Given the description of an element on the screen output the (x, y) to click on. 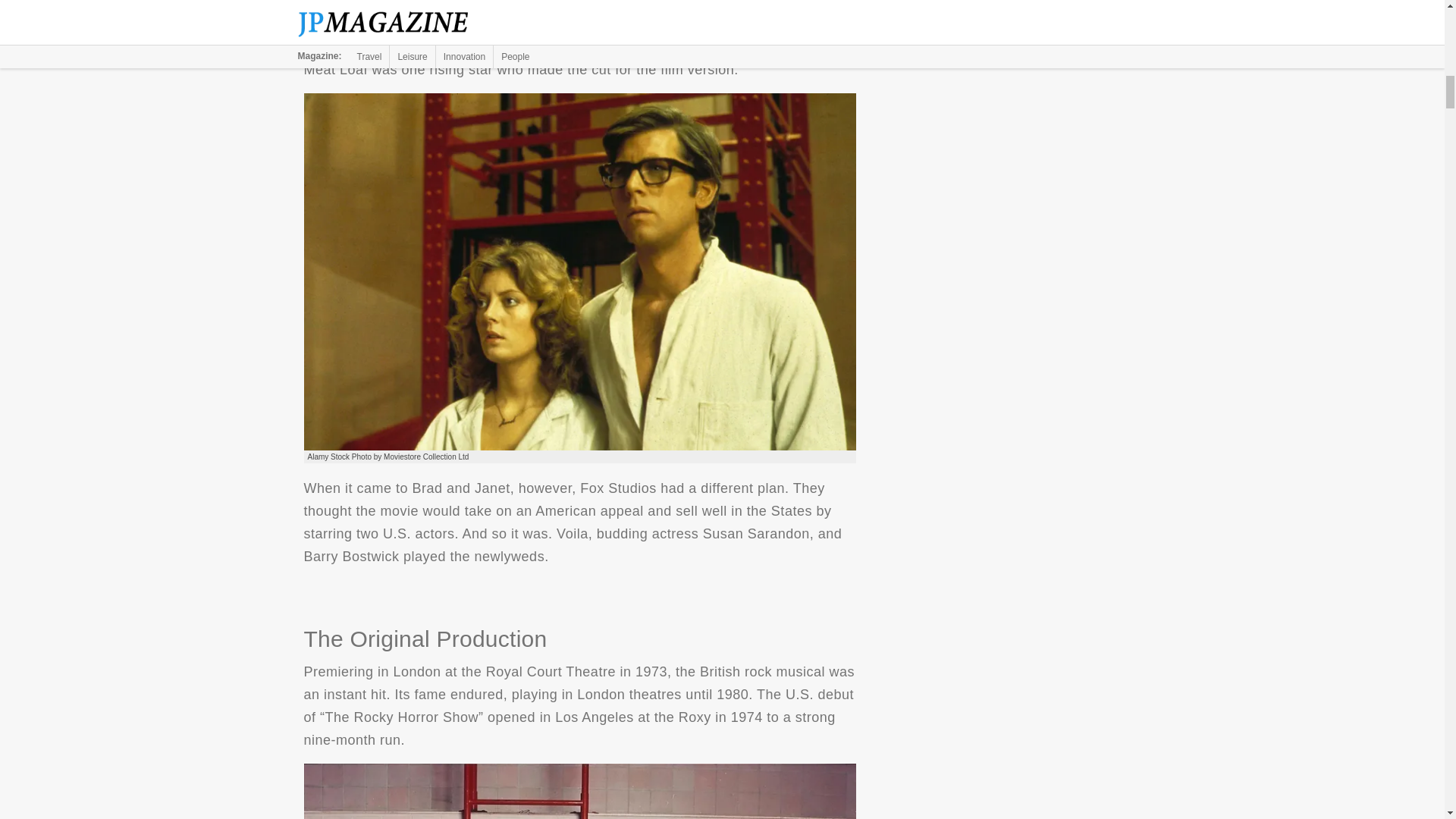
The Original Production (579, 791)
